Given the description of an element on the screen output the (x, y) to click on. 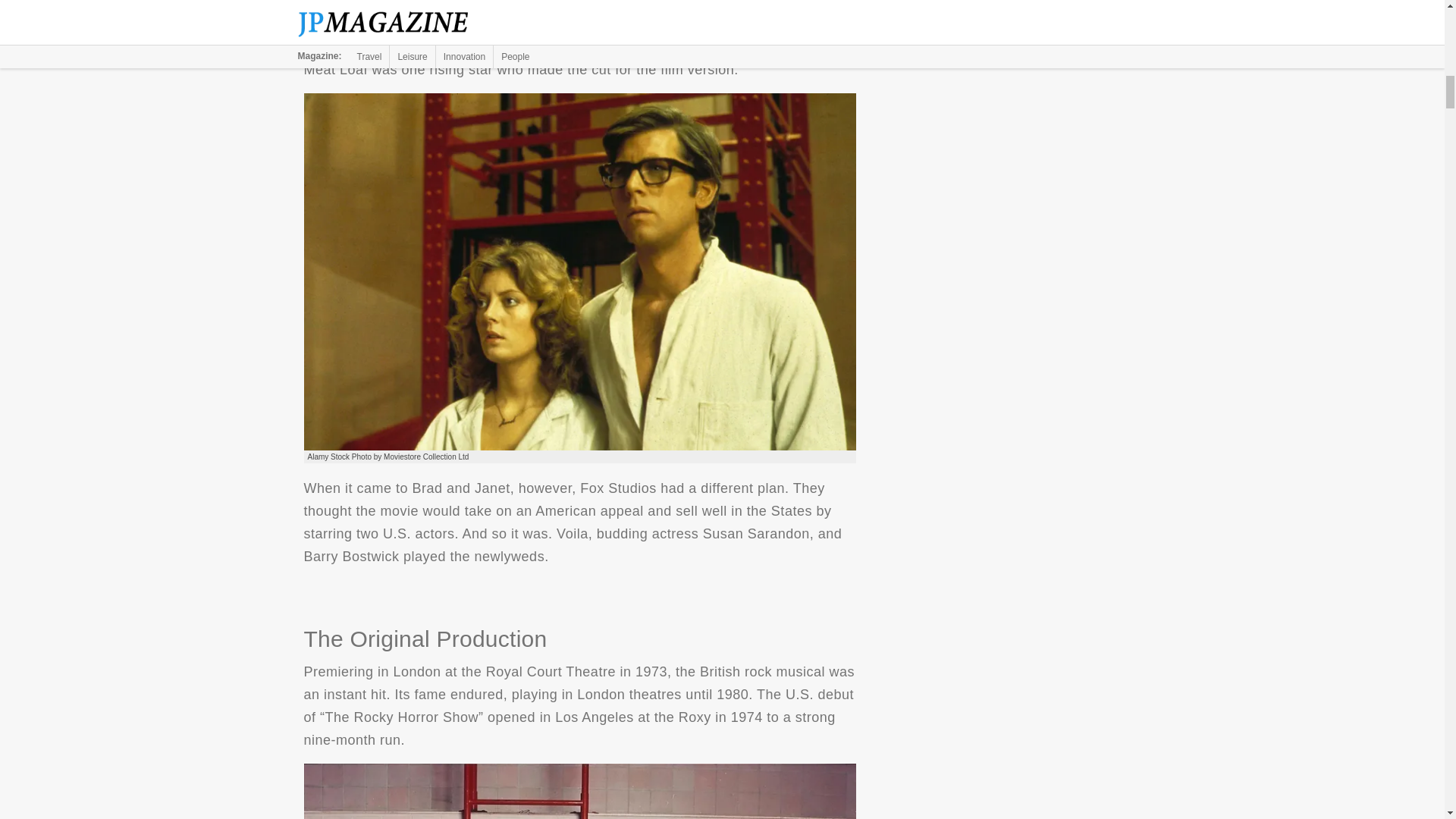
The Original Production (579, 791)
